Given the description of an element on the screen output the (x, y) to click on. 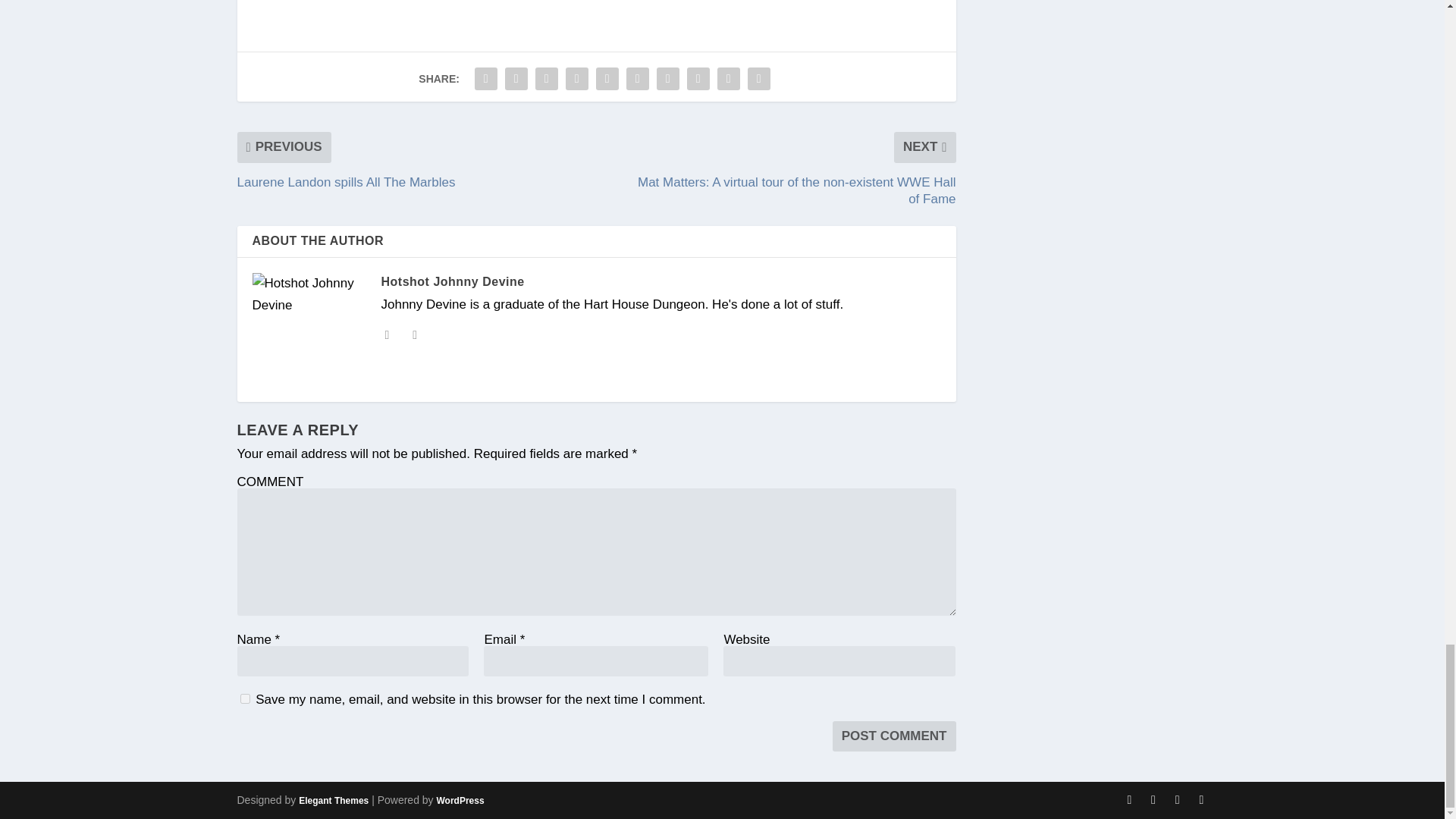
Share "Proposing a radical restructuring" via Tumblr (577, 78)
Post Comment (894, 736)
Premium WordPress Themes (333, 800)
Hotshot Johnny Devine (452, 281)
Share "Proposing a radical restructuring" via Pinterest (607, 78)
Post Comment (894, 736)
yes (244, 698)
Share "Proposing a radical restructuring" via LinkedIn (637, 78)
Share "Proposing a radical restructuring" via Print (759, 78)
Share "Proposing a radical restructuring" via Buffer (667, 78)
